Given the description of an element on the screen output the (x, y) to click on. 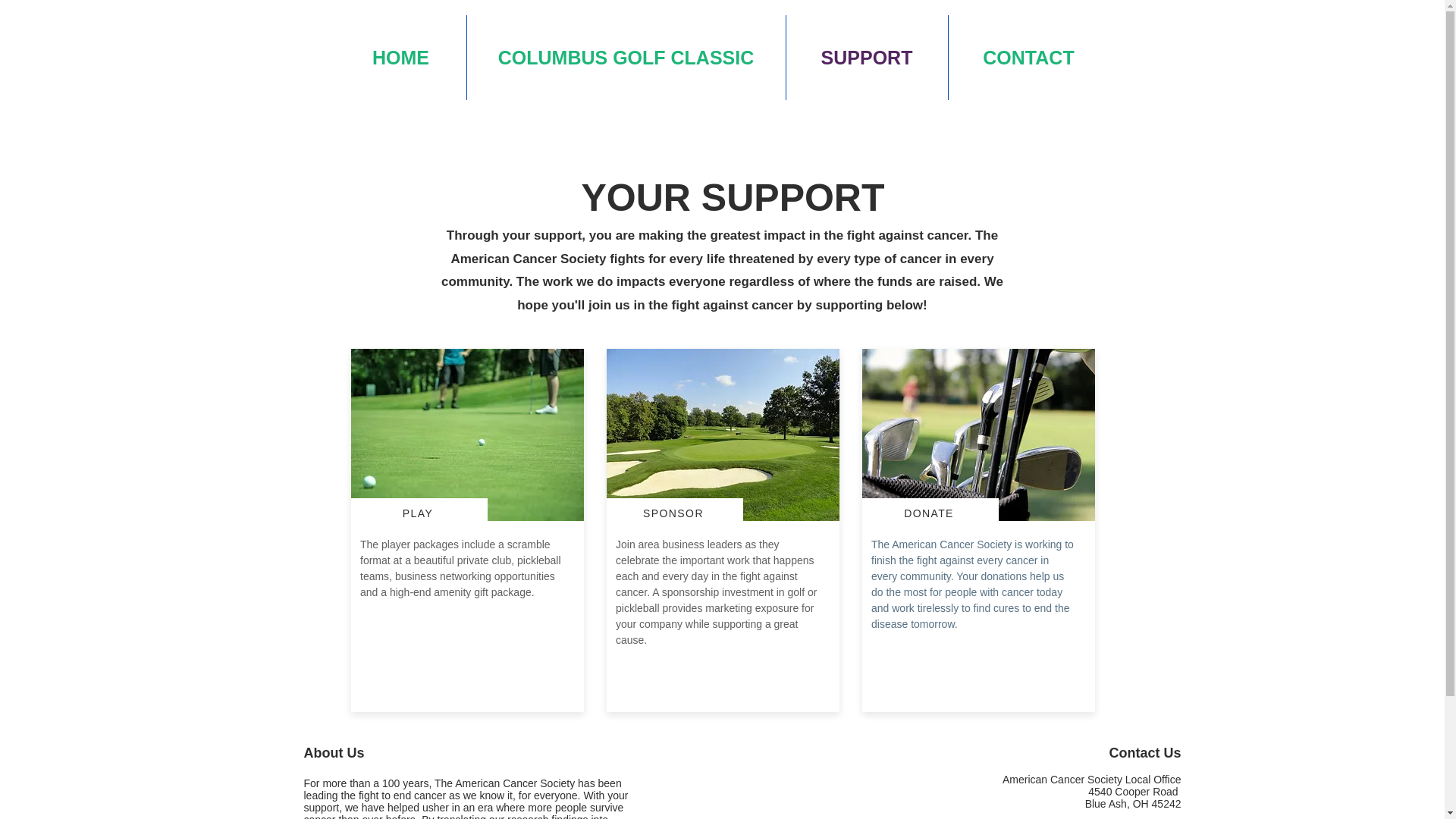
PLAY (418, 512)
SPONSOR (674, 512)
SUPPORT (866, 57)
DONATE (929, 512)
HOME (399, 57)
COLUMBUS GOLF CLASSIC (626, 57)
CONTACT (1027, 57)
